Given the description of an element on the screen output the (x, y) to click on. 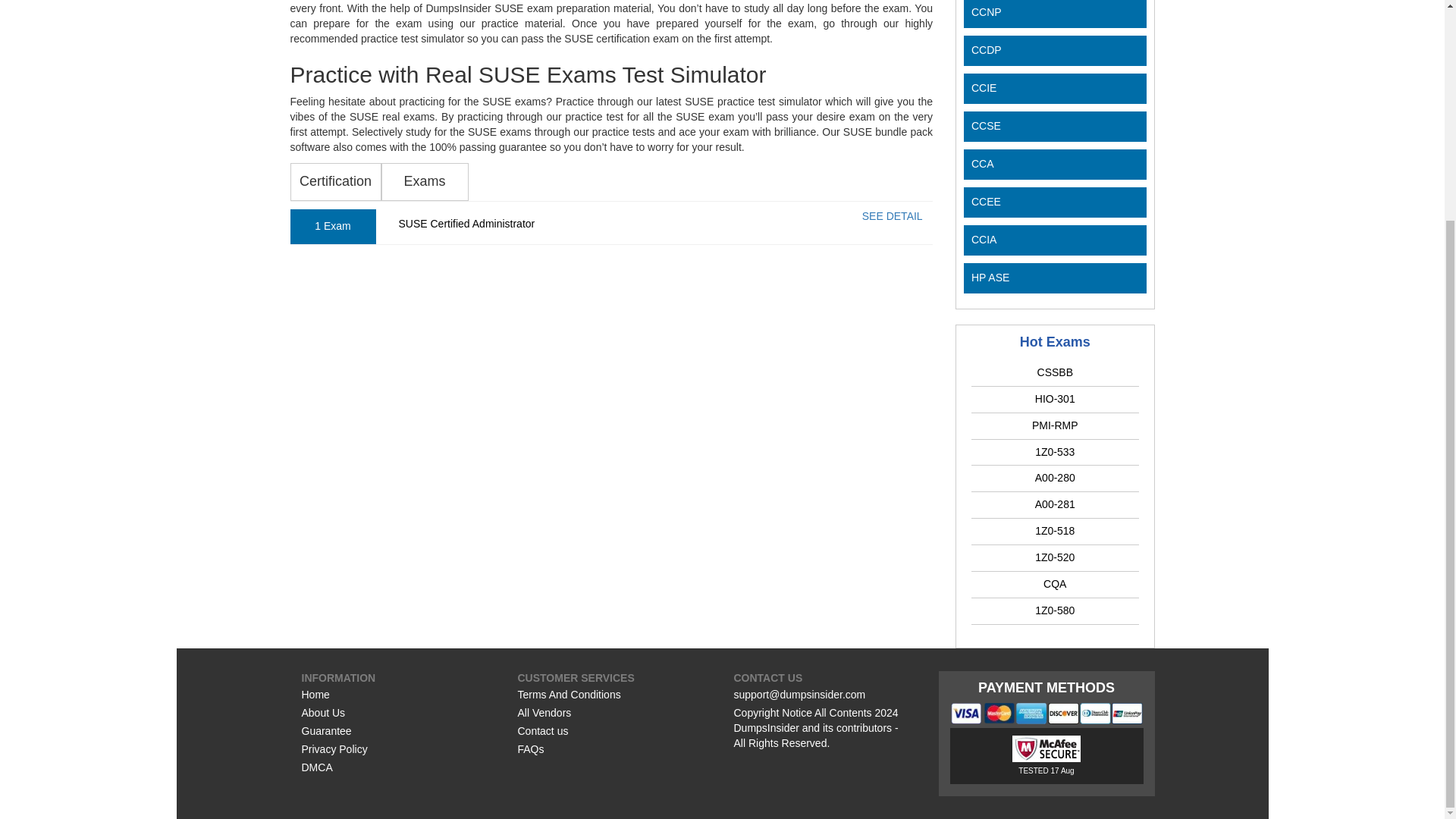
CCNP (986, 11)
1Z0-533 (1054, 451)
CCSE (986, 125)
CSSBB (1054, 372)
CCA (982, 163)
SEE DETAIL (892, 215)
CCIE (983, 87)
CCEE (986, 201)
CCDP (986, 50)
1Z0-520 (1054, 557)
